Given the description of an element on the screen output the (x, y) to click on. 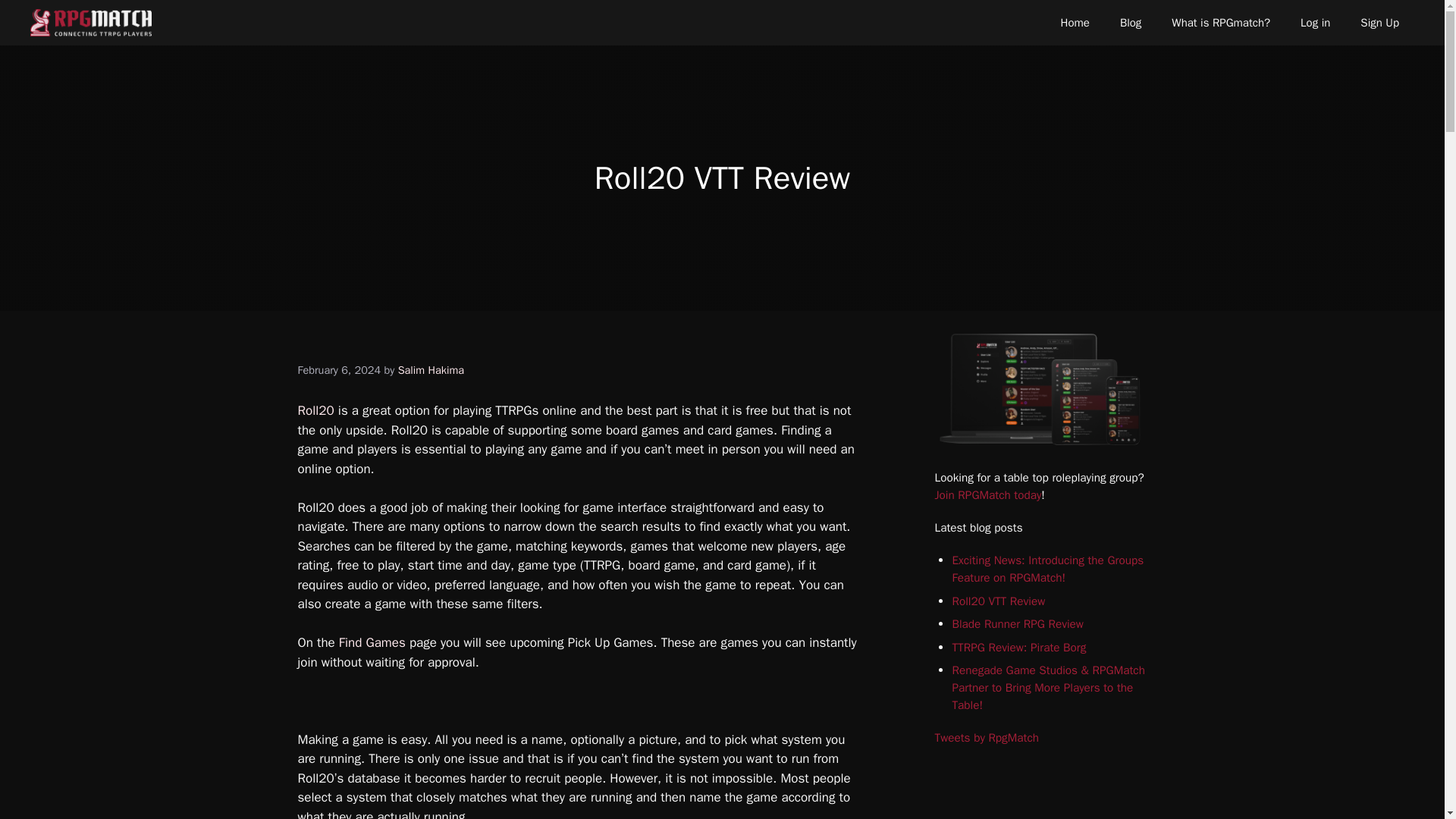
Exciting News: Introducing the Groups Feature on RPGMatch! (1047, 568)
Blade Runner RPG Review (1017, 623)
Log in (1315, 22)
View all posts by Salim Hakima (430, 369)
Blog (1130, 22)
TTRPG Review: Pirate Borg (1019, 647)
Find Games (372, 642)
Sign Up (1379, 22)
Join RPGMatch today (987, 494)
What is RPGmatch? (1220, 22)
Roll20 (315, 410)
Home (1075, 22)
Tweets by RpgMatch (986, 737)
Salim Hakima (430, 369)
Roll20 VTT Review (998, 601)
